Given the description of an element on the screen output the (x, y) to click on. 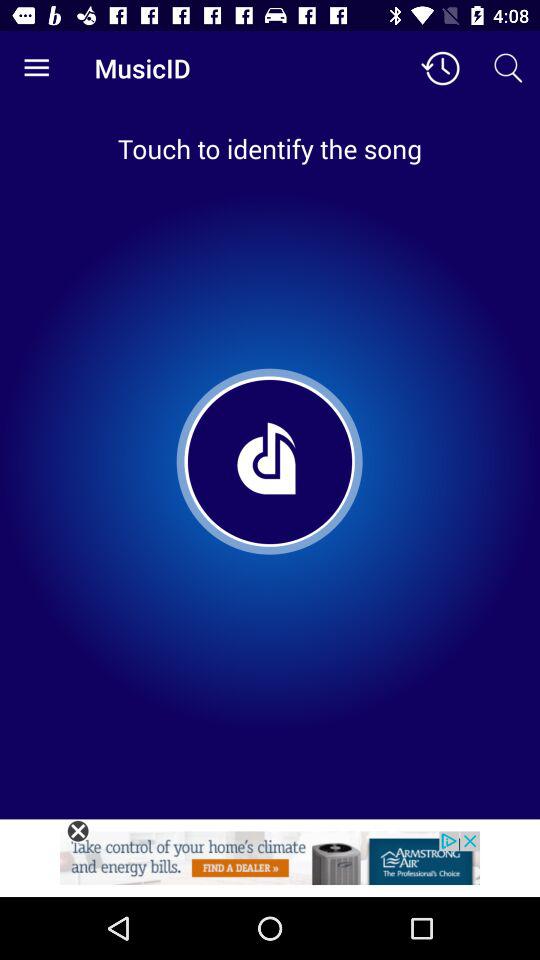
open advertisement (270, 864)
